Given the description of an element on the screen output the (x, y) to click on. 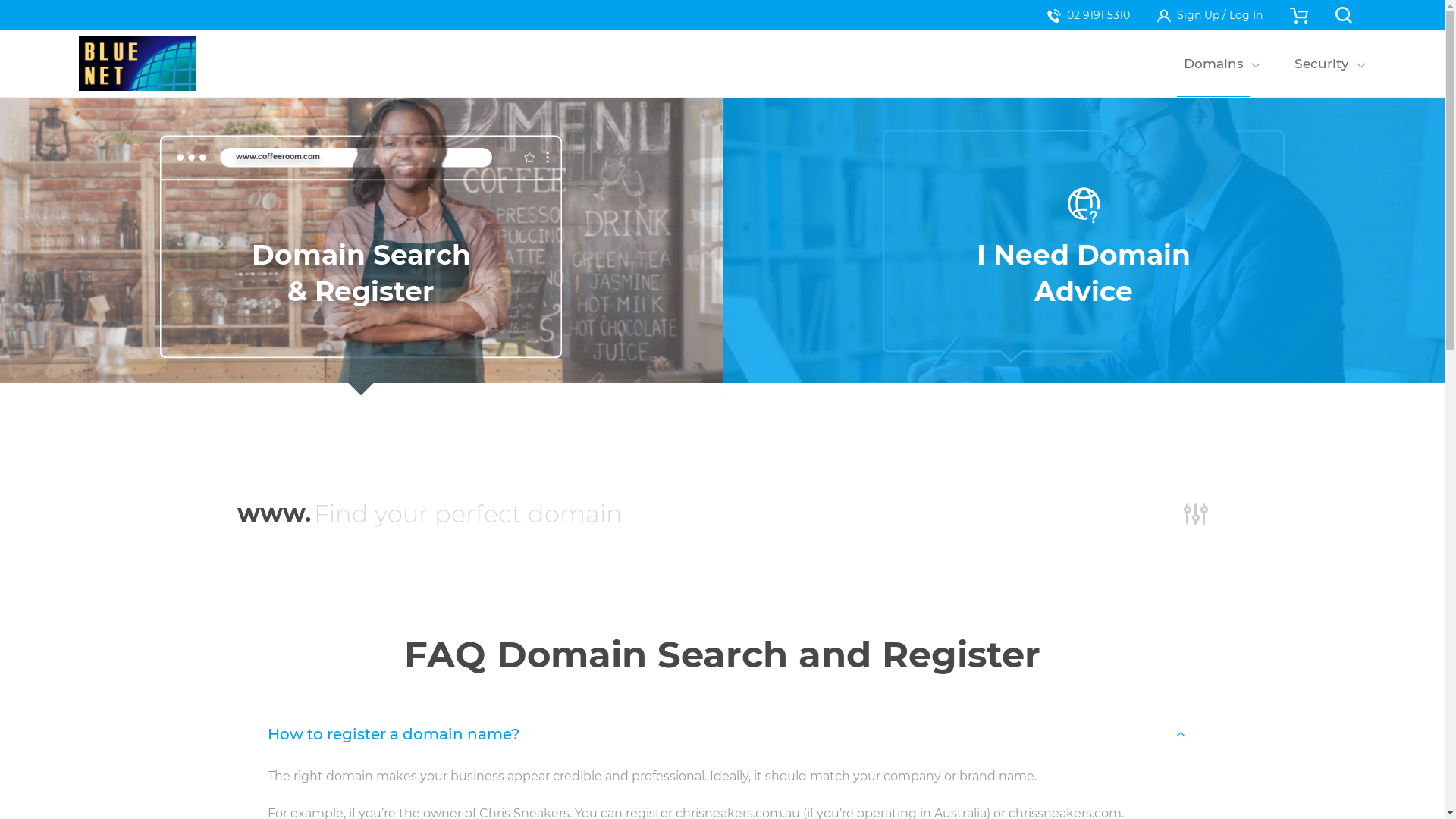
Domains Element type: text (1212, 63)
02 9191 5310 Element type: text (1088, 15)
I Need Domain 
Advice Element type: text (1082, 246)
Security Element type: text (1321, 63)
